Given the description of an element on the screen output the (x, y) to click on. 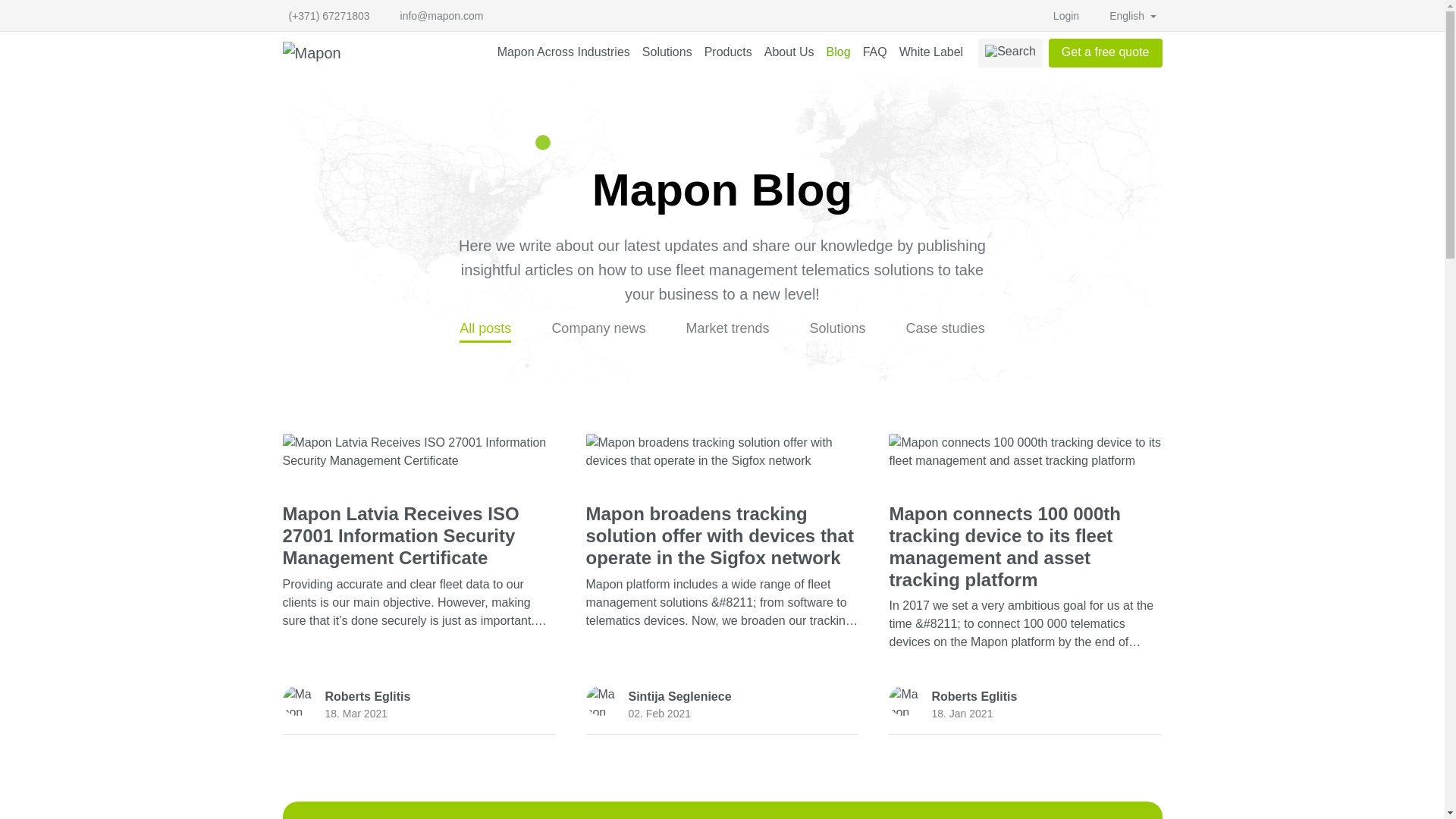
Login (1065, 15)
English (1132, 15)
